Given the description of an element on the screen output the (x, y) to click on. 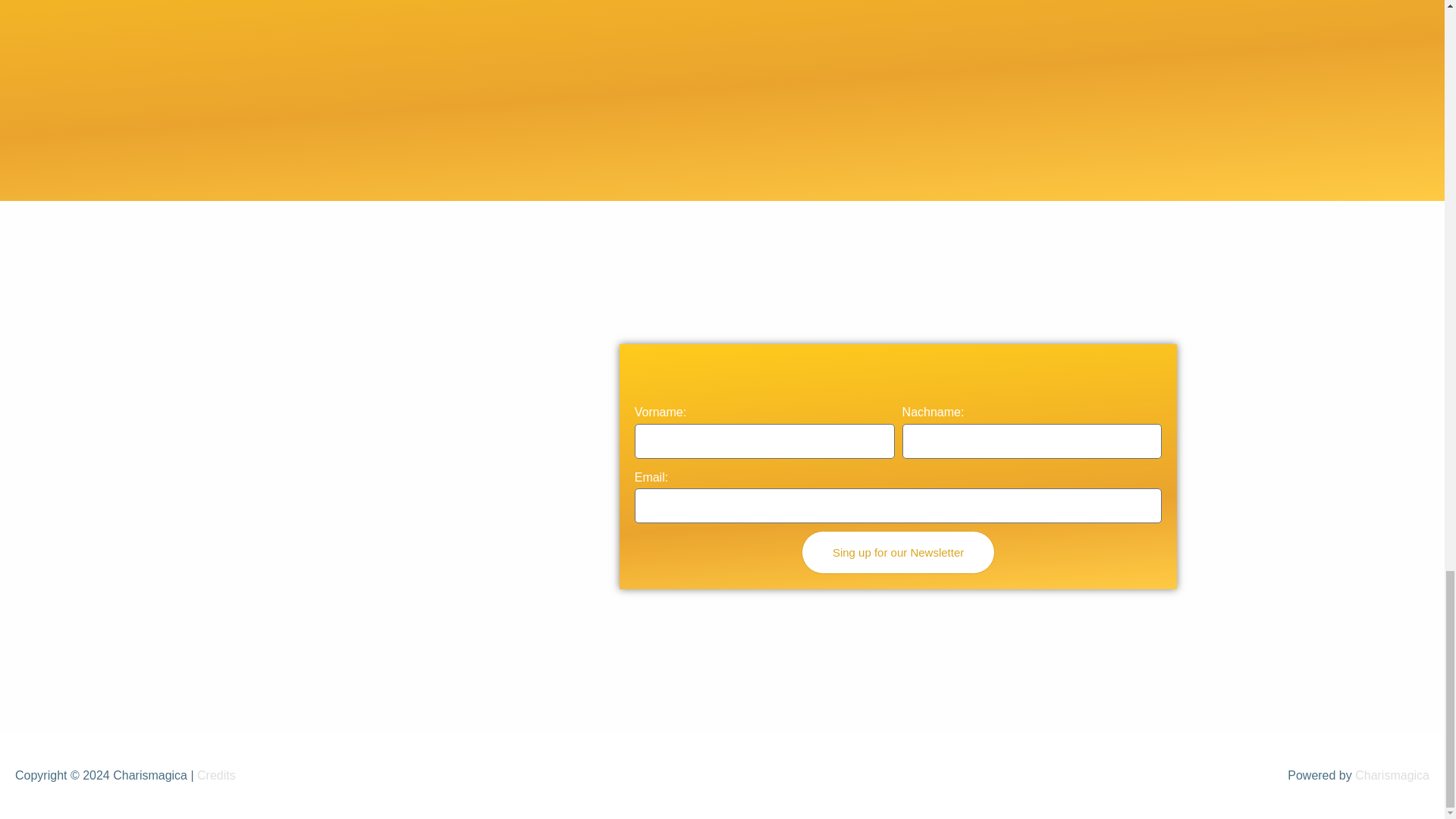
Sing up for our Newsletter (898, 552)
Credits (215, 775)
Charismagica (1392, 775)
